Given the description of an element on the screen output the (x, y) to click on. 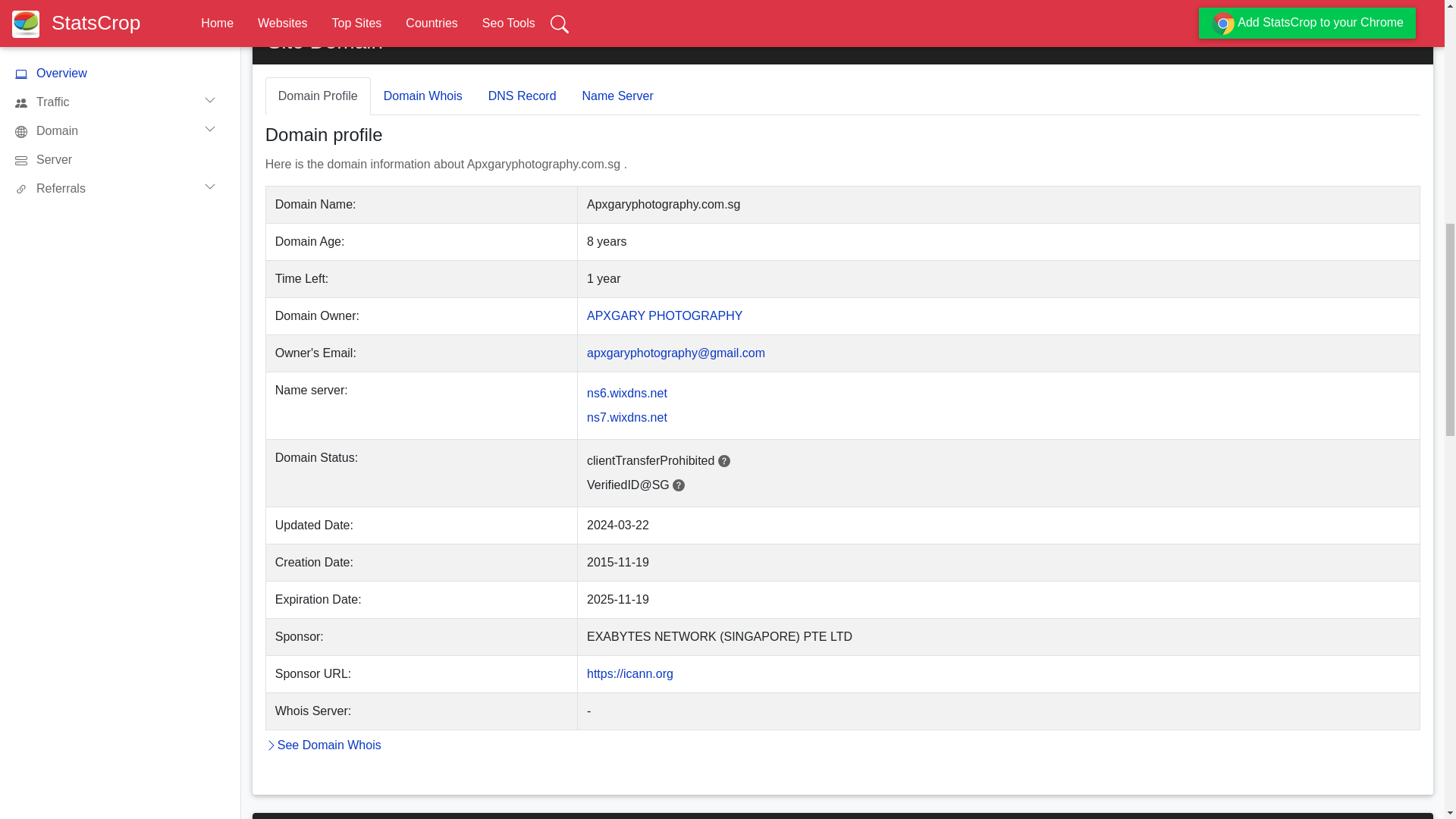
APXGARY PHOTOGRAPHY (664, 315)
ns6.wixdns.net (626, 392)
Domain Profile (317, 95)
Domain Whois (423, 95)
Name Server (617, 95)
DNS Record (522, 95)
APXGARY PHOTOGRAPHY (664, 315)
